Given the description of an element on the screen output the (x, y) to click on. 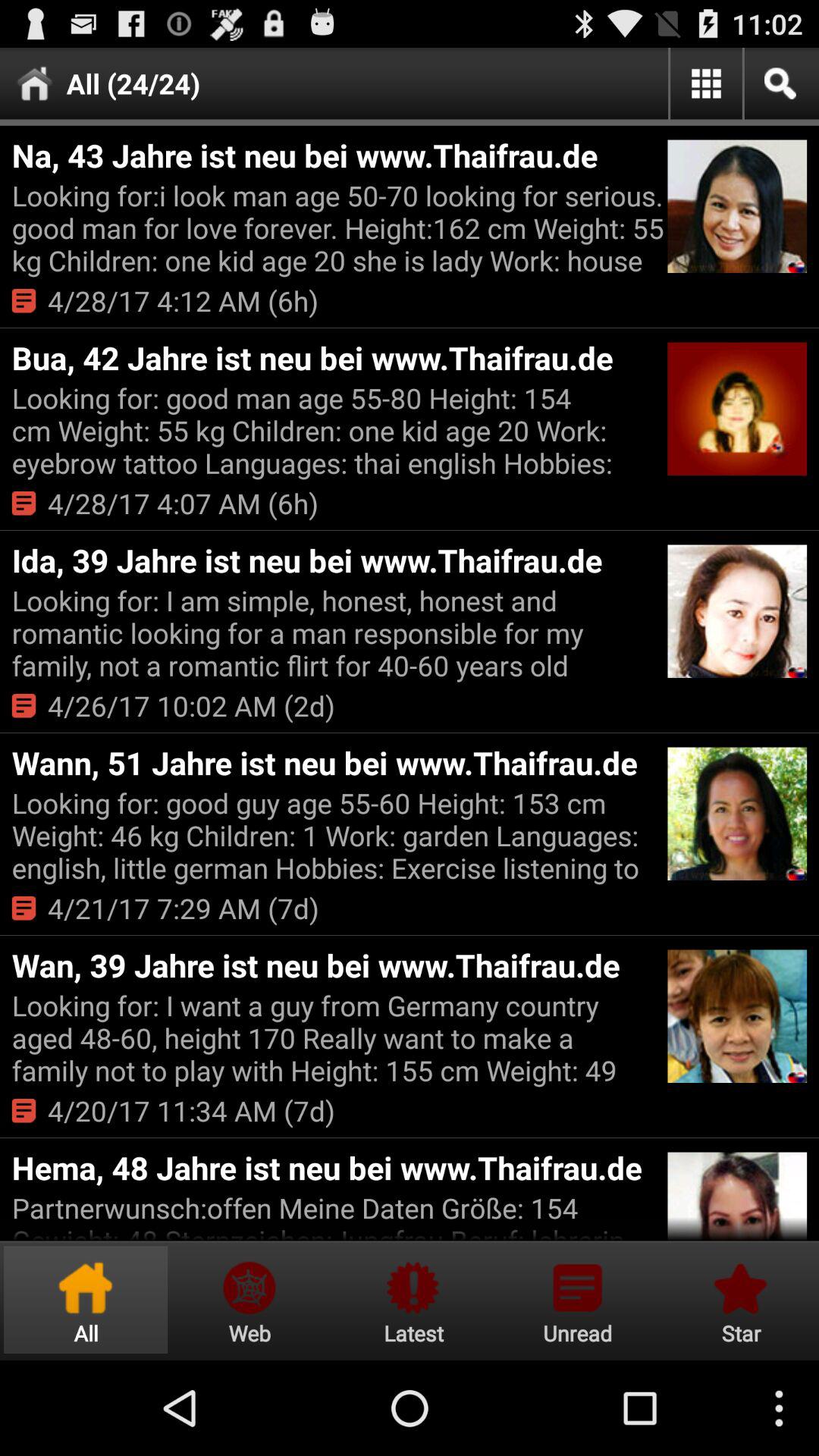
launch the app below the partnerwunsch offen meine icon (413, 1299)
